Given the description of an element on the screen output the (x, y) to click on. 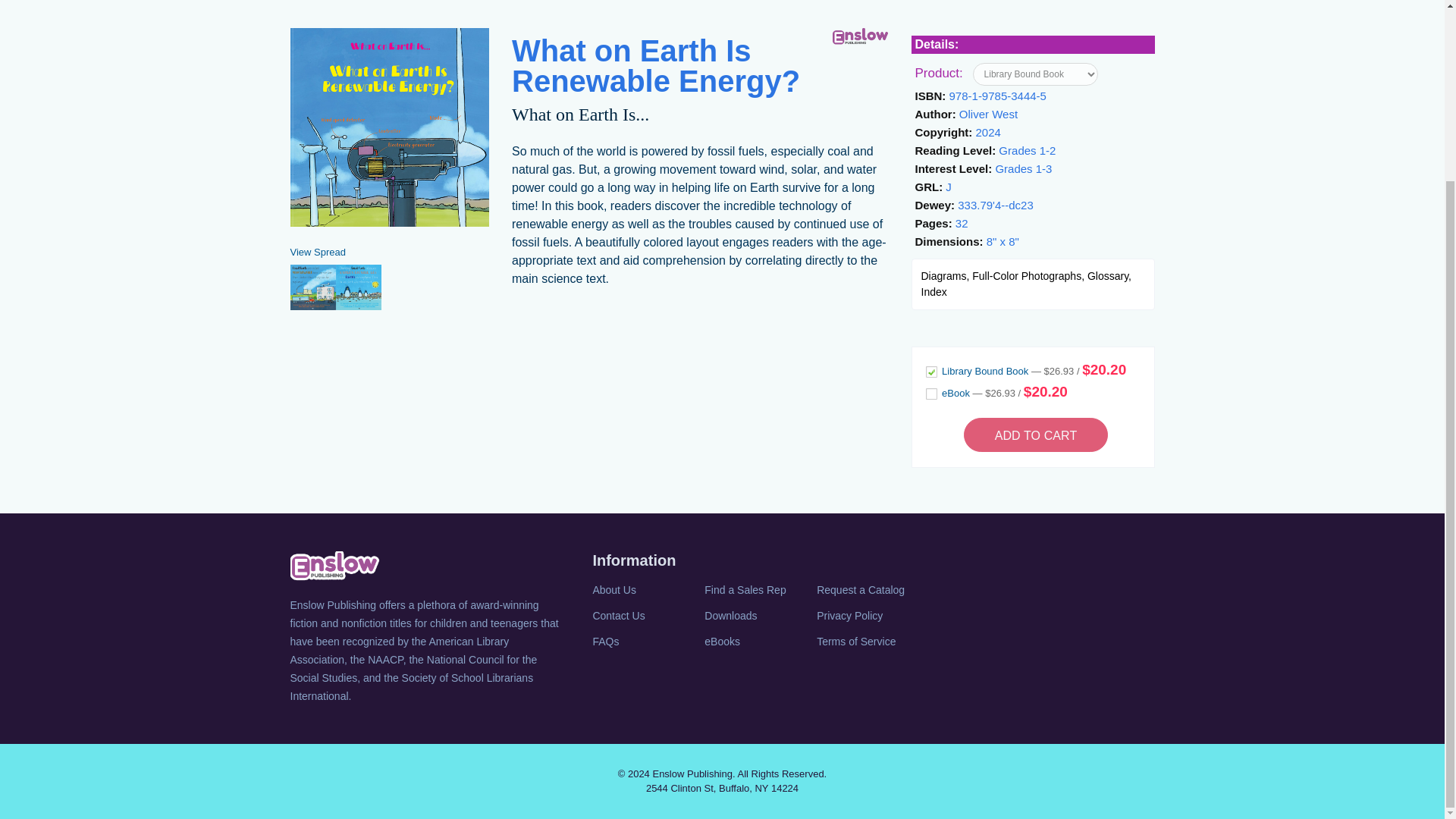
eBooks (758, 641)
FAQs (646, 641)
Contact Us (646, 615)
Privacy Policy (871, 615)
Add to cart (1035, 434)
Request a Catalog (871, 589)
Terms of Service (871, 641)
What on Earth Is... (580, 114)
Find a Sales Rep (758, 589)
About Us (646, 589)
Add to cart (1035, 434)
Downloads (758, 615)
